Given the description of an element on the screen output the (x, y) to click on. 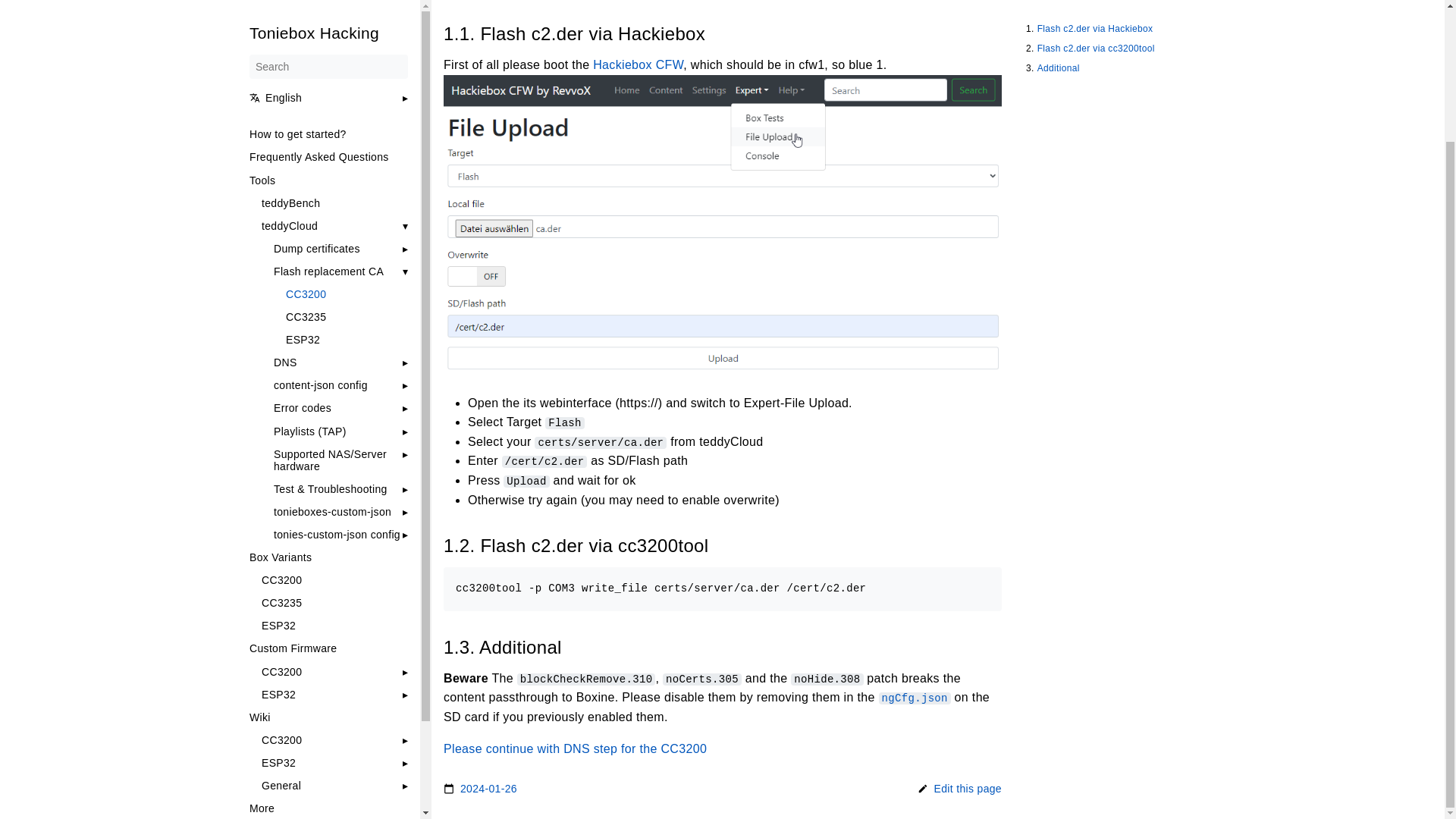
content-json config (319, 224)
Dump certificates (316, 88)
ESP32 (277, 534)
CC3200 (280, 511)
Flash replacement CA (327, 111)
Custom Firmware (327, 488)
Tools (327, 20)
ESP32 (346, 179)
Error codes (301, 247)
CC3235 (333, 442)
